Given the description of an element on the screen output the (x, y) to click on. 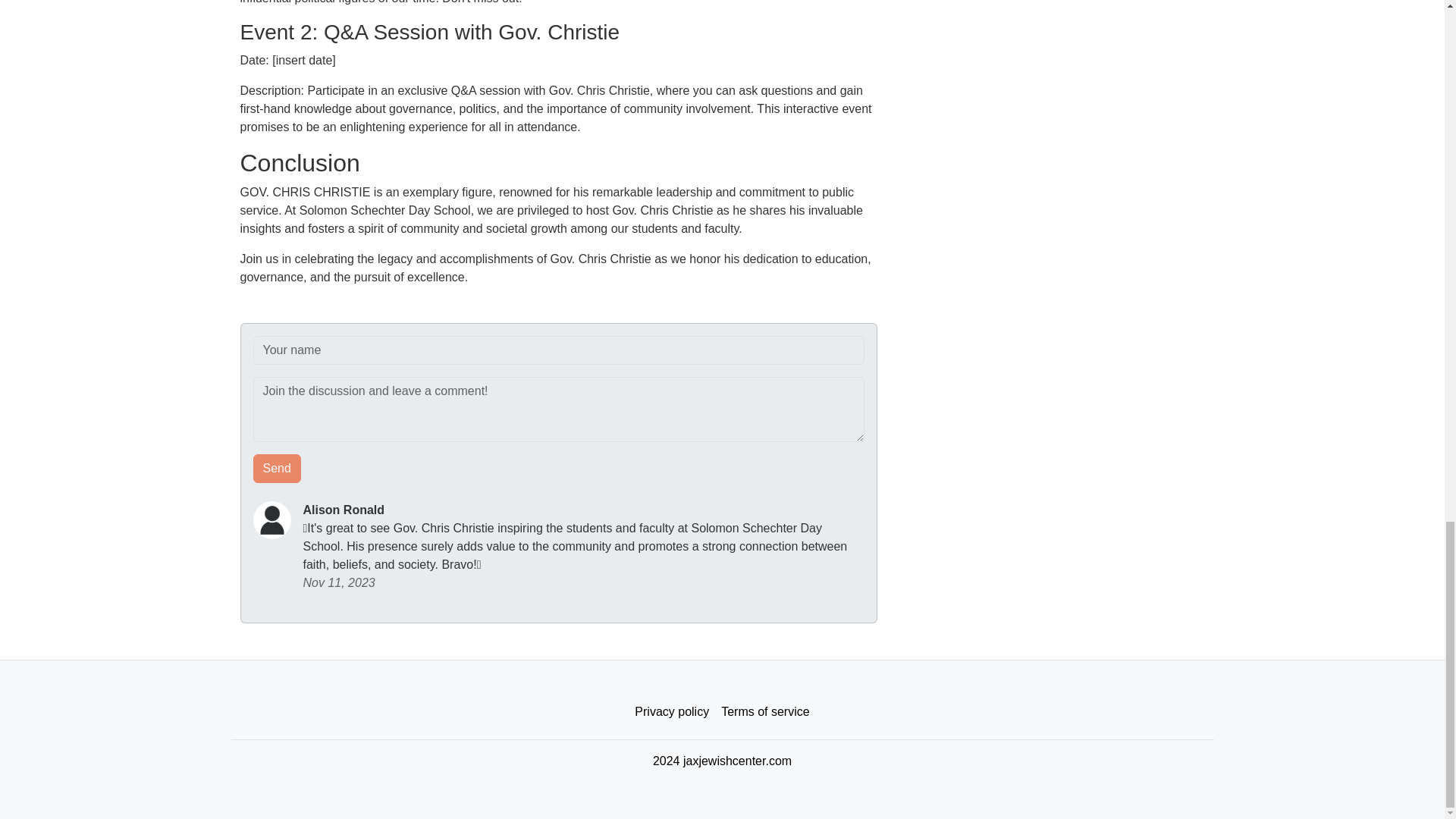
Send (277, 468)
Send (277, 468)
